Given the description of an element on the screen output the (x, y) to click on. 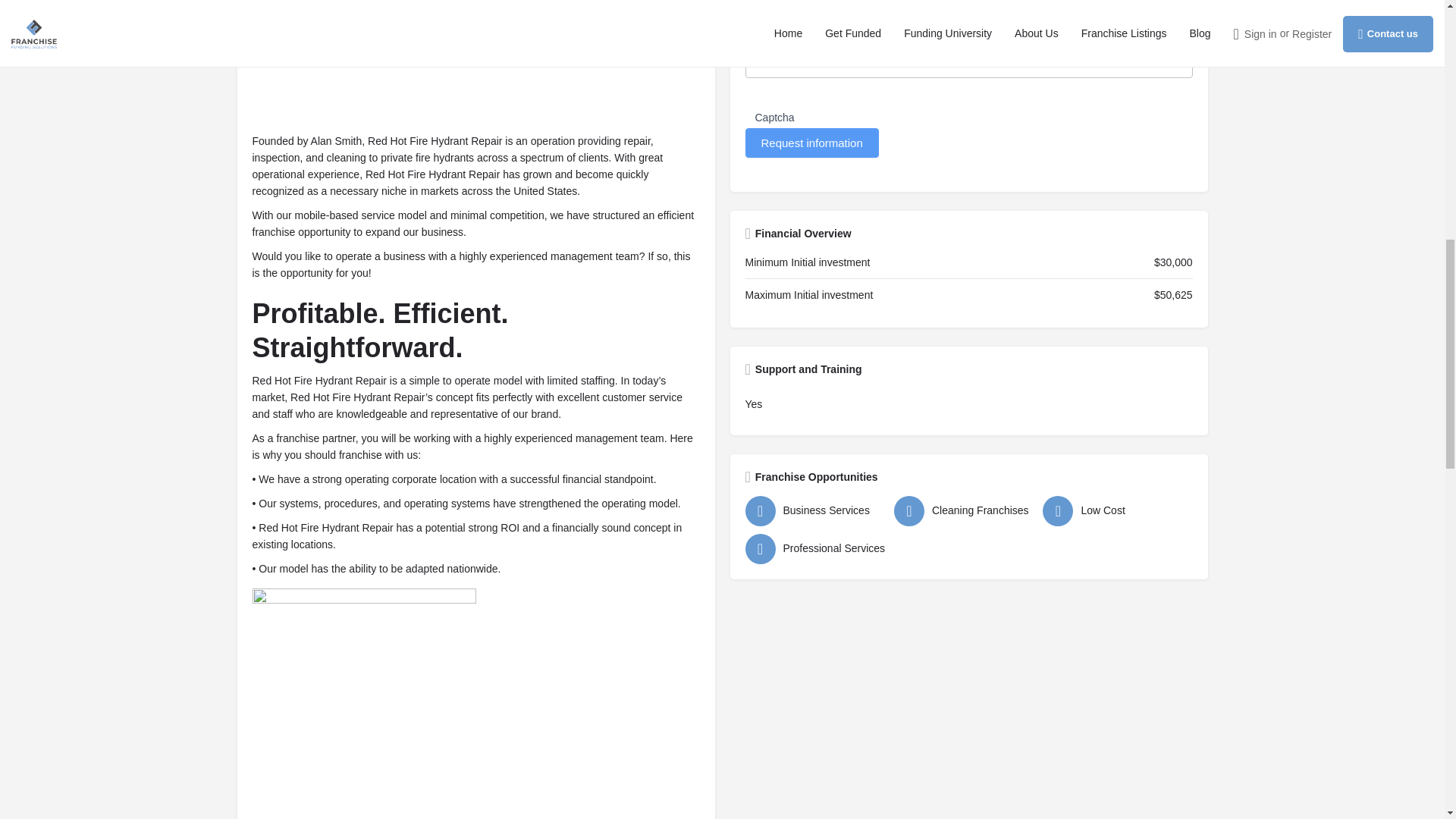
Cleaning Franchises (964, 511)
Business Services (814, 511)
Request information (810, 142)
Professional Services (814, 548)
Low Cost (1112, 511)
